Given the description of an element on the screen output the (x, y) to click on. 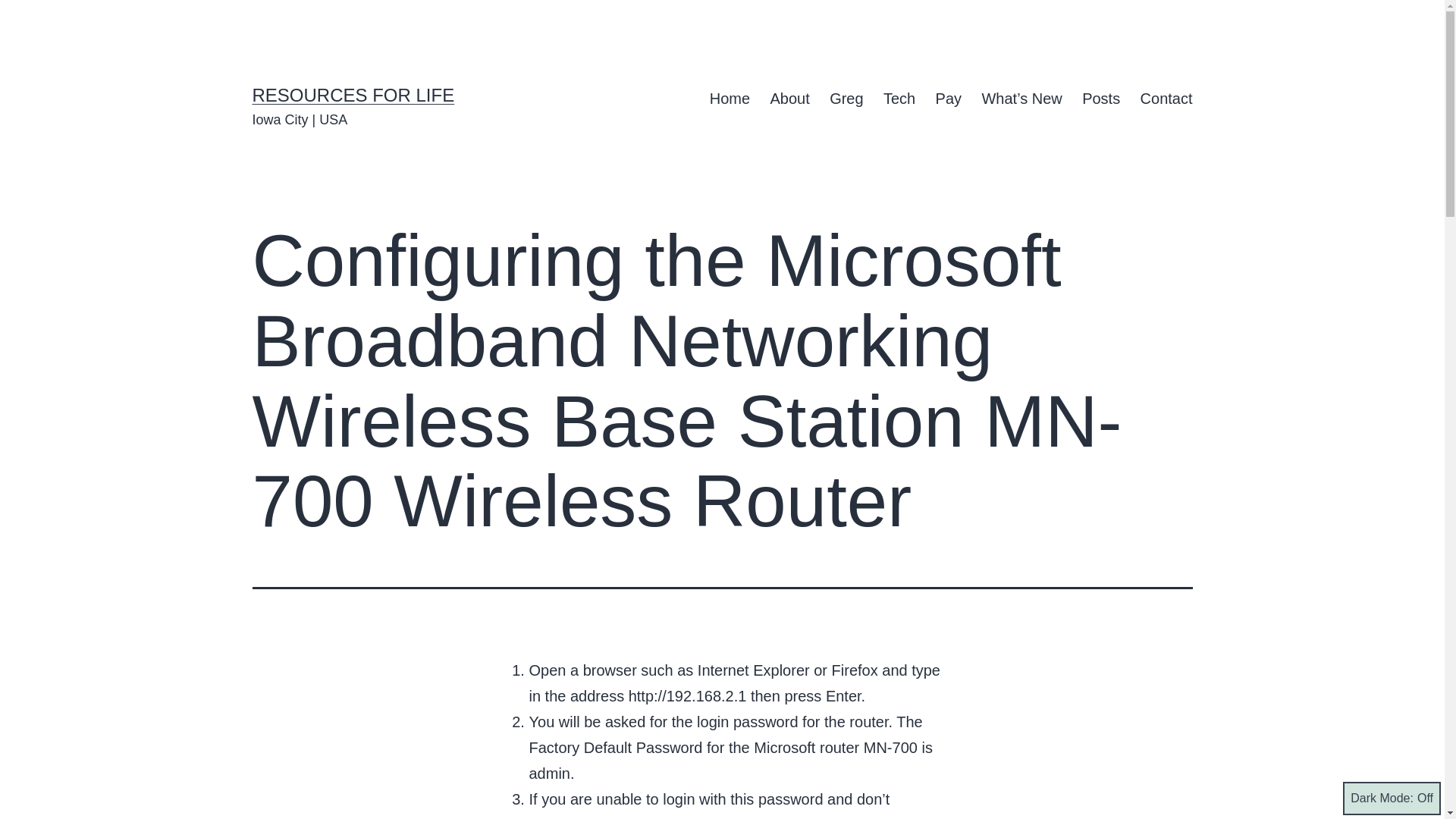
Dark Mode: (1391, 798)
Tech (899, 98)
RESOURCES FOR LIFE (352, 95)
Posts (1100, 98)
Contact (1165, 98)
Pay (947, 98)
About (789, 98)
Greg (846, 98)
Home (730, 98)
